Given the description of an element on the screen output the (x, y) to click on. 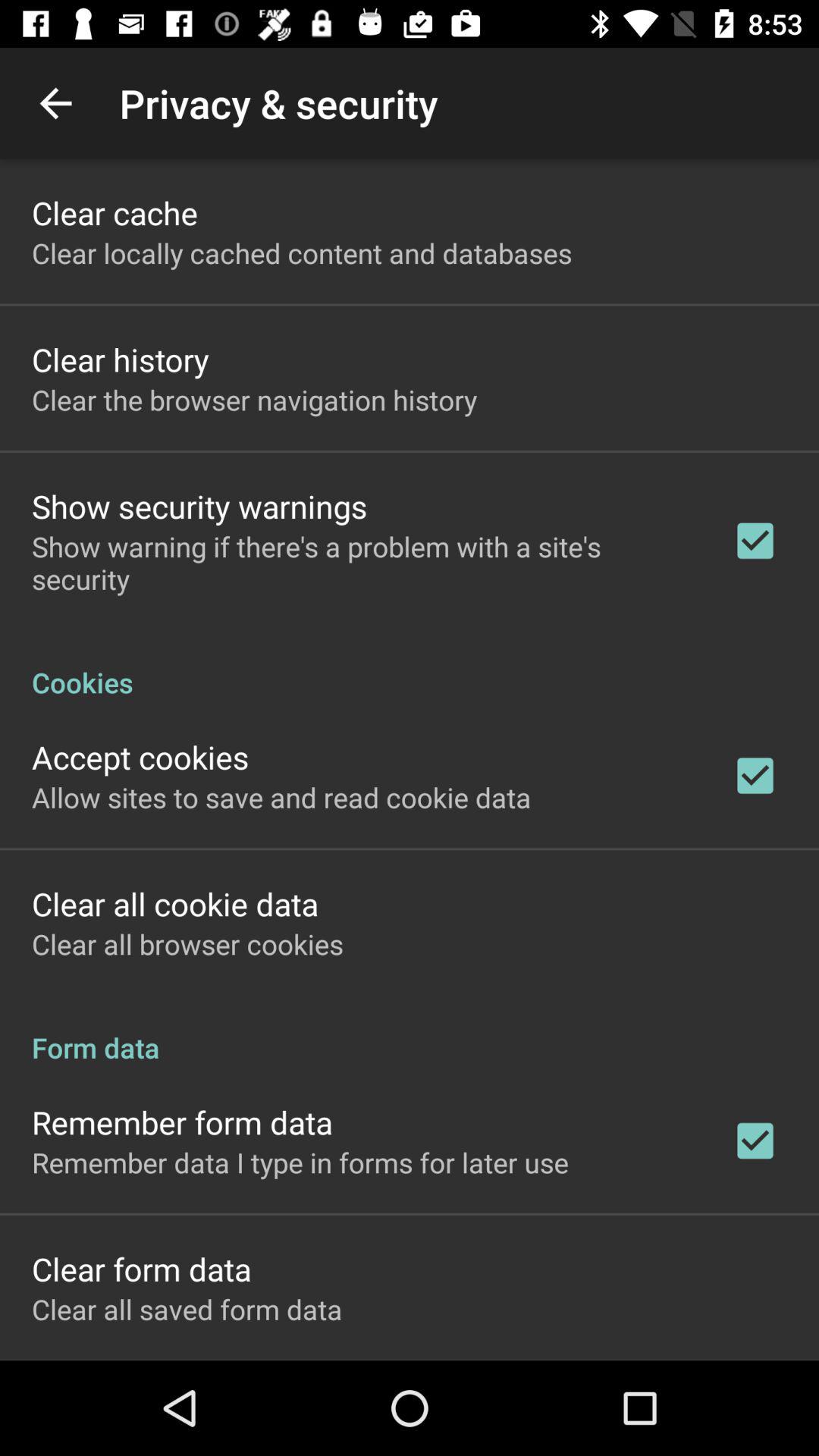
launch icon above clear all cookie app (281, 797)
